Given the description of an element on the screen output the (x, y) to click on. 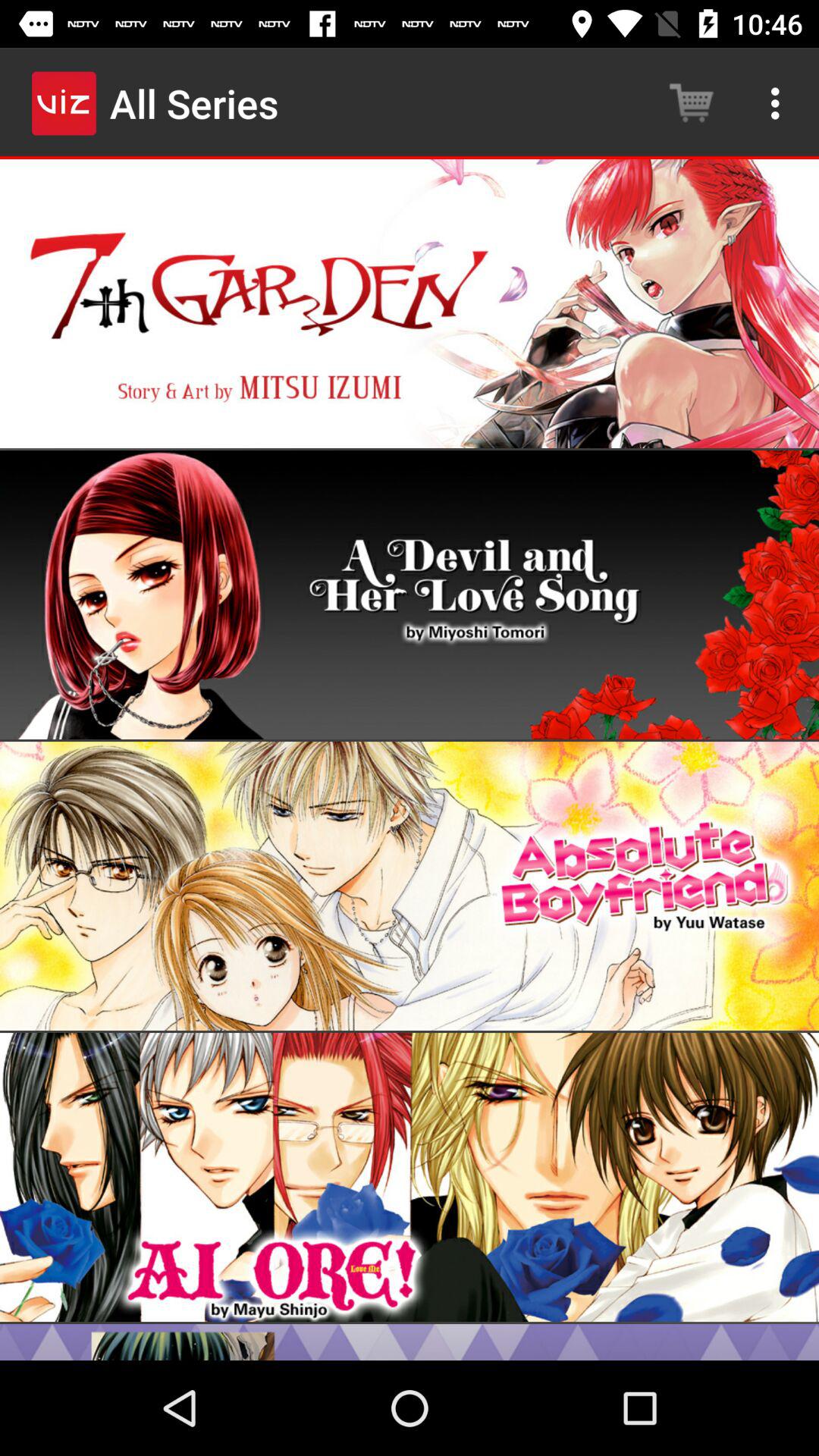
tap the icon to the right of the all series icon (691, 103)
